Given the description of an element on the screen output the (x, y) to click on. 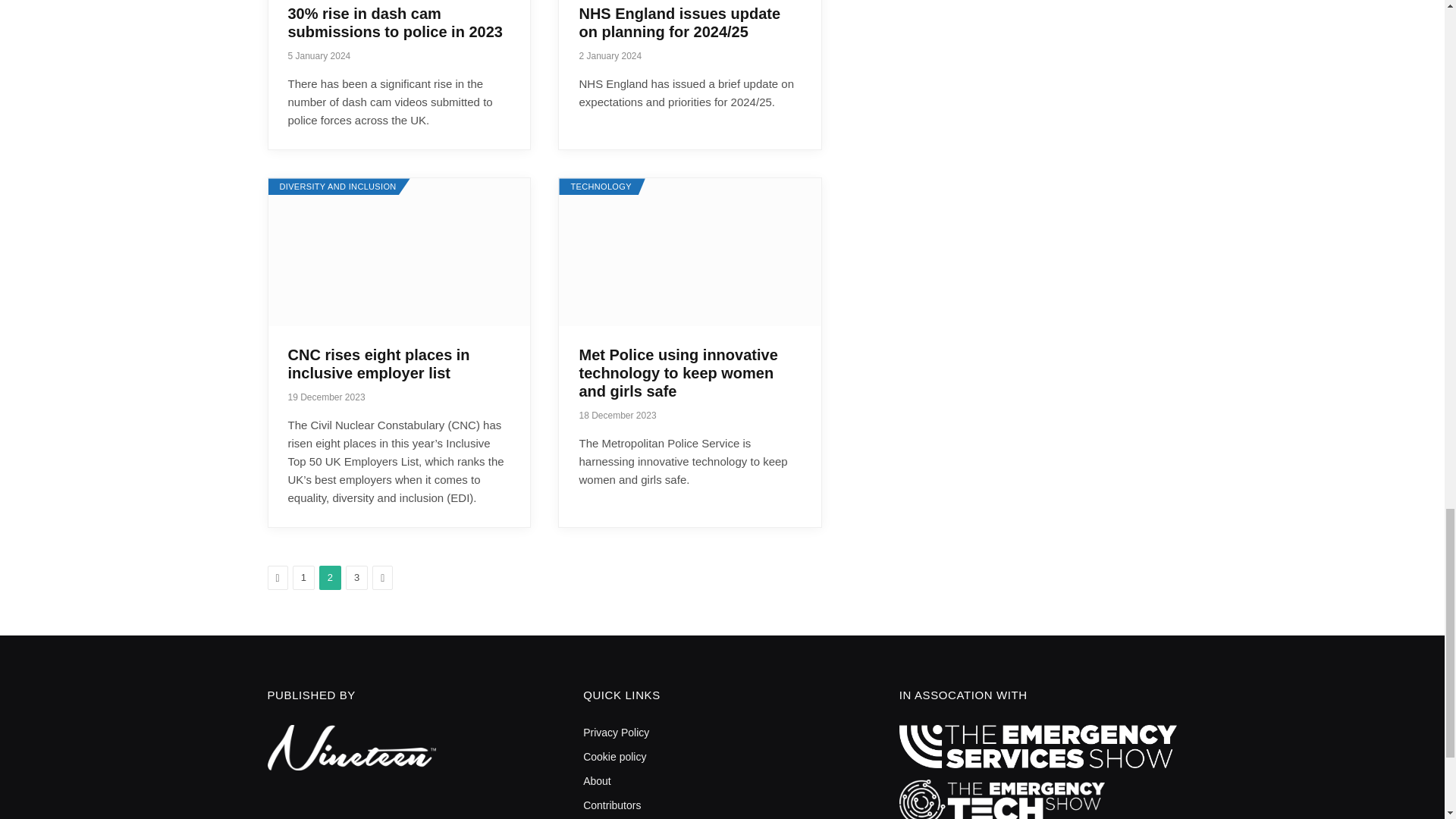
CNC rises eight places in inclusive employer list (399, 251)
